Given the description of an element on the screen output the (x, y) to click on. 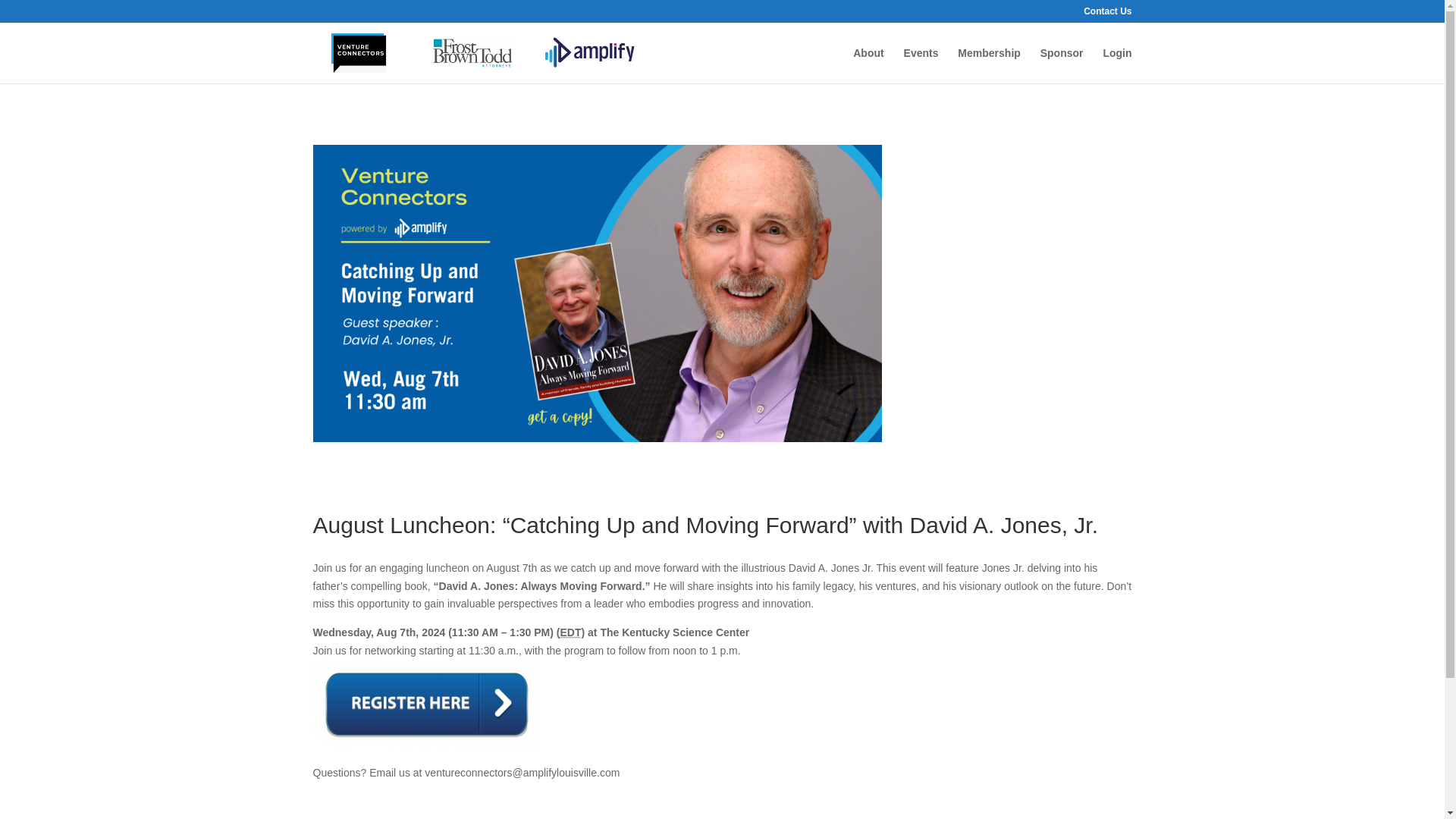
Sponsor (1062, 65)
Contact Us (1107, 14)
About (868, 65)
Events (921, 65)
Login (1116, 65)
Membership (989, 65)
